Given the description of an element on the screen output the (x, y) to click on. 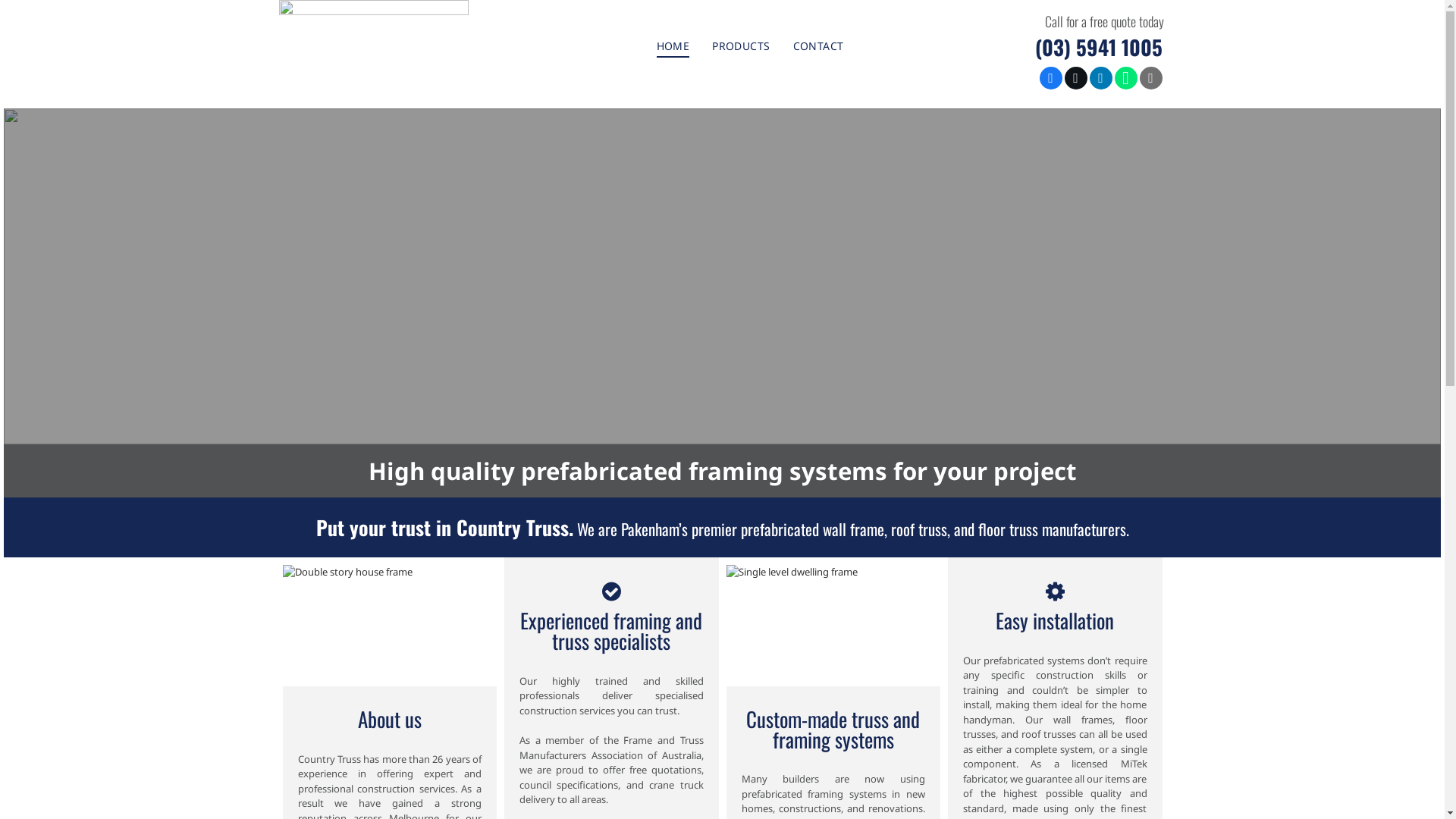
HOME Element type: text (673, 45)
Single level dwelling frame Element type: hover (833, 625)
(03) 5941 1005 Element type: text (1097, 46)
PRODUCTS Element type: text (740, 45)
Double story house frame Element type: hover (389, 625)
CONTACT Element type: text (818, 45)
